Given the description of an element on the screen output the (x, y) to click on. 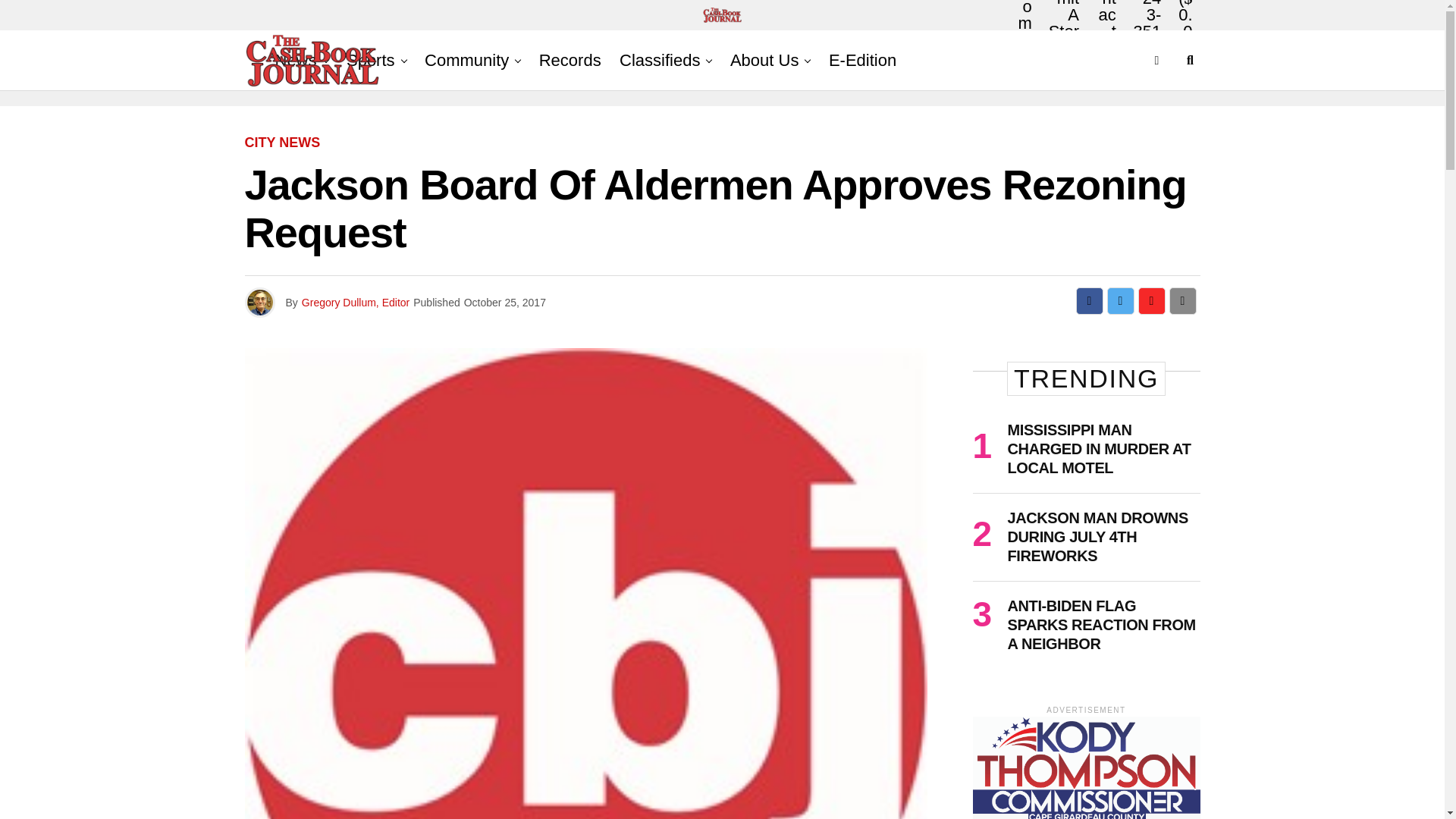
Posts by Gregory Dullum, Editor (355, 302)
Sports (371, 60)
Tweet This Post (1120, 300)
Community (466, 60)
News (294, 60)
Share on Facebook (1088, 300)
Share on Flipboard (1150, 300)
